Given the description of an element on the screen output the (x, y) to click on. 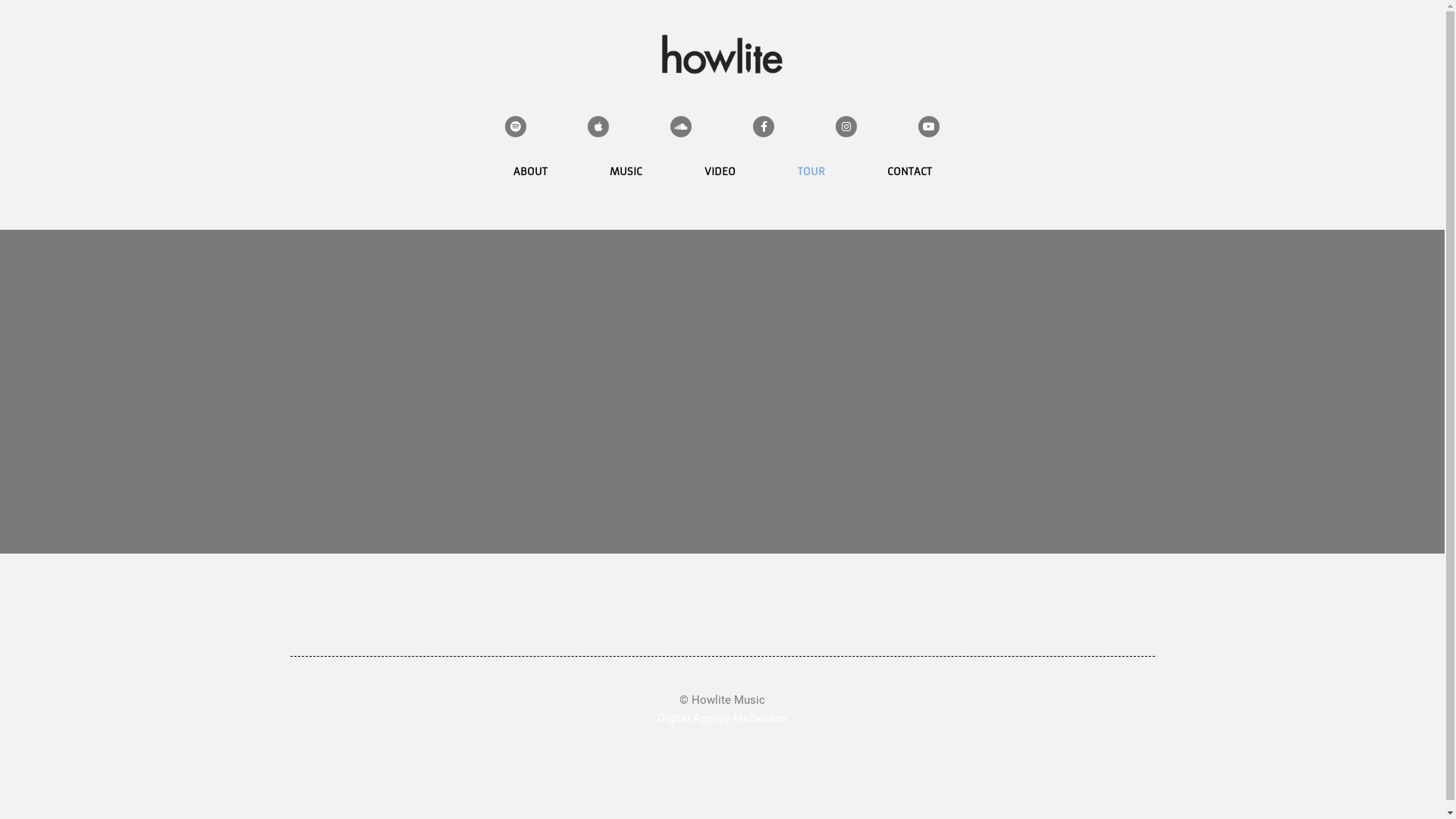
VIDEO Element type: text (719, 171)
TOUR Element type: text (810, 171)
CONTACT Element type: text (908, 171)
ABOUT Element type: text (530, 171)
Digital Agency Melbourne Element type: text (722, 717)
MUSIC Element type: text (624, 171)
